Given the description of an element on the screen output the (x, y) to click on. 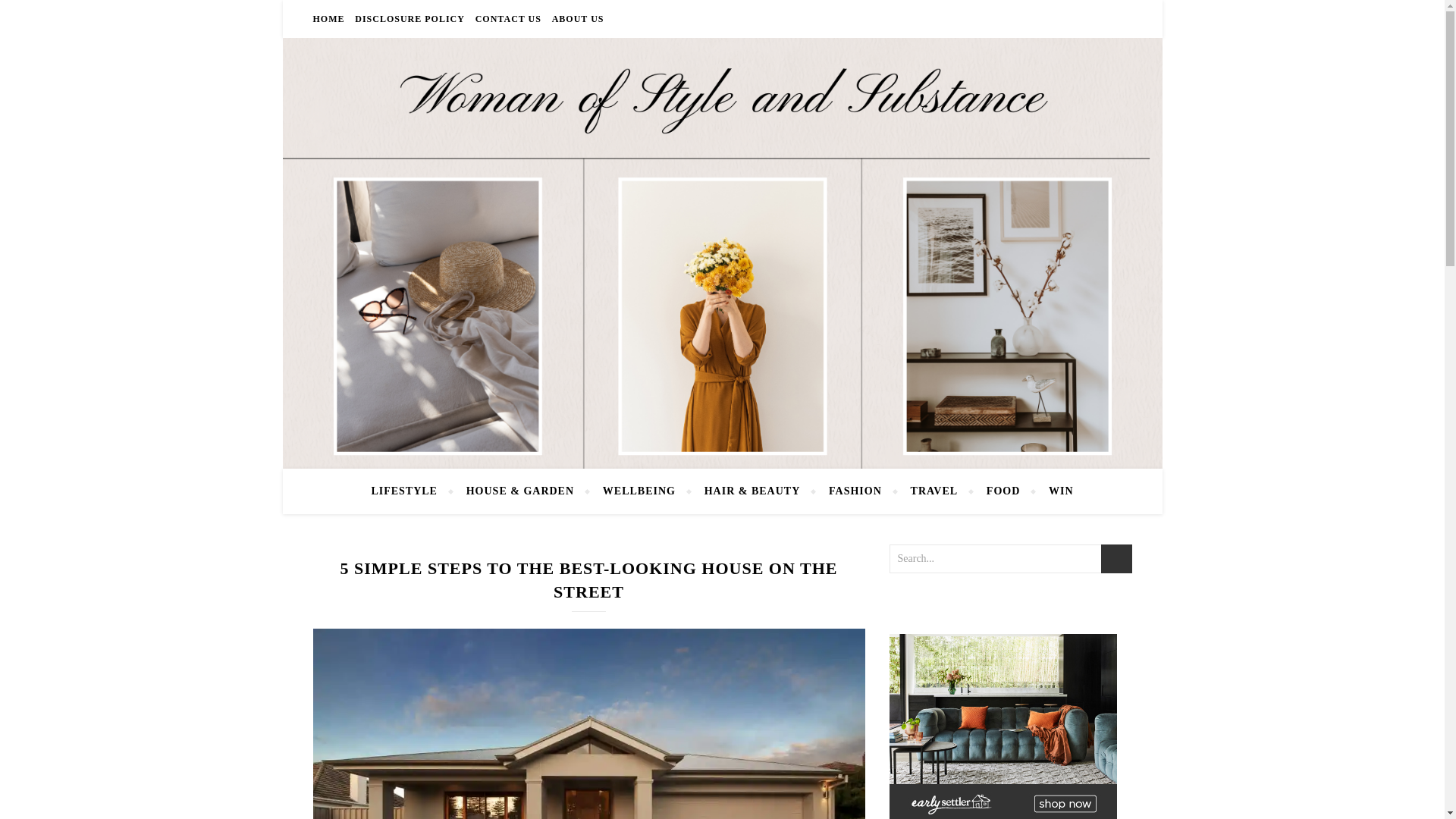
TRAVEL (934, 491)
DISCLOSURE POLICY (409, 18)
HOME (330, 18)
WELLBEING (638, 491)
FASHION (855, 491)
ABOUT US (576, 18)
FOOD (1003, 491)
LIFESTYLE (410, 491)
CONTACT US (507, 18)
